Given the description of an element on the screen output the (x, y) to click on. 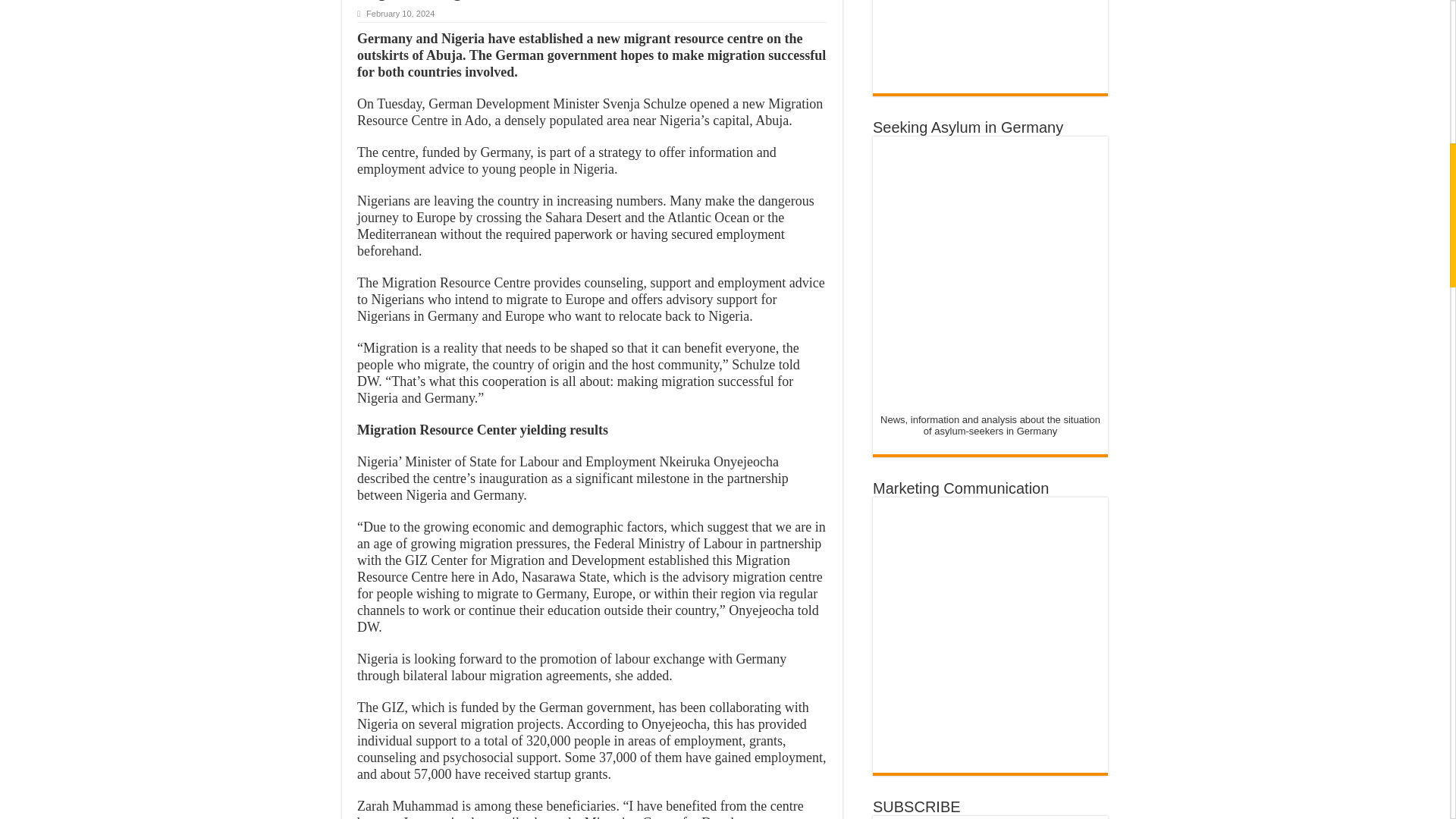
Scroll To Top (1427, 60)
